Given the description of an element on the screen output the (x, y) to click on. 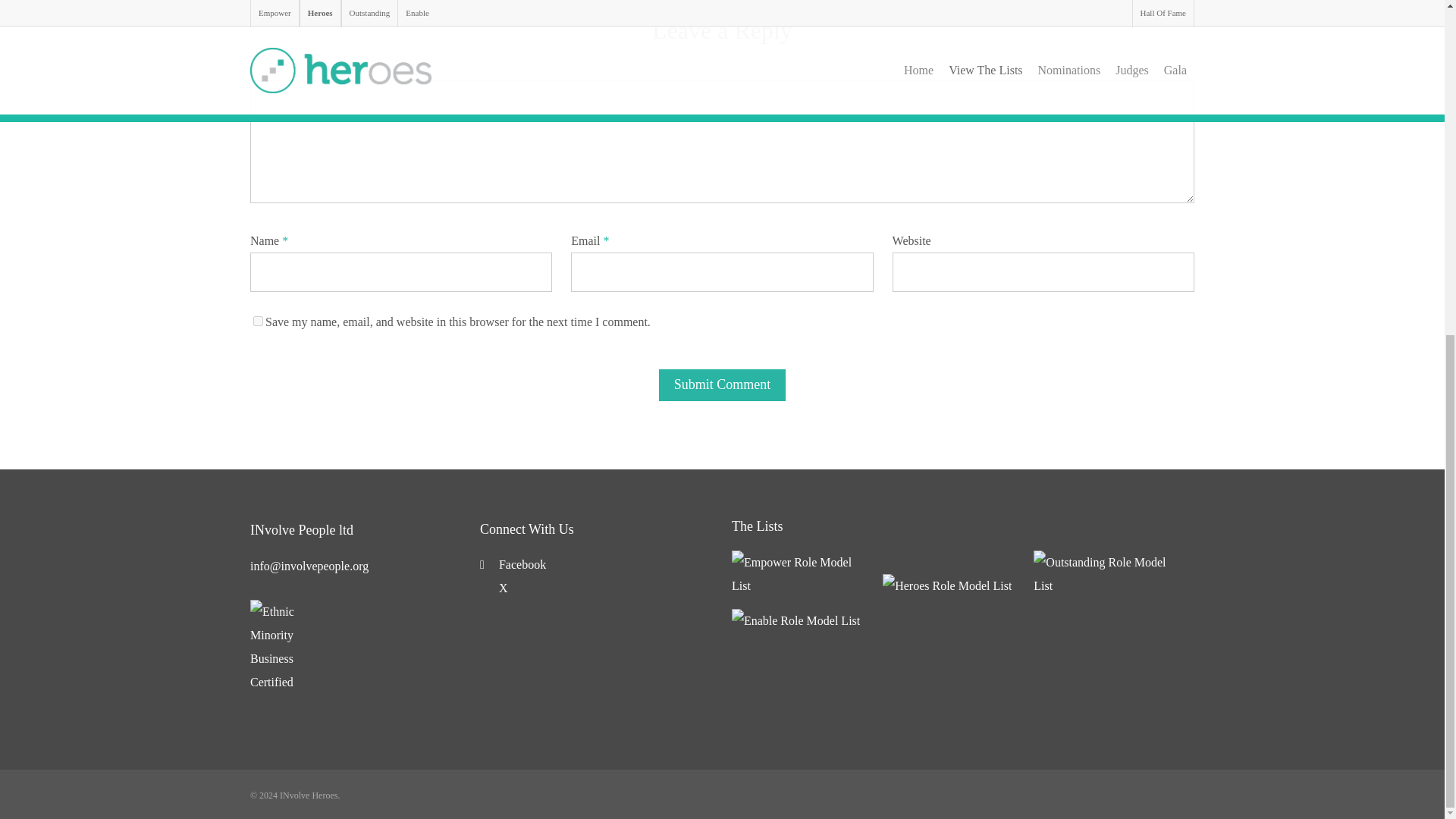
Submit Comment (722, 385)
yes (258, 320)
Submit Comment (722, 385)
X (494, 587)
